Given the description of an element on the screen output the (x, y) to click on. 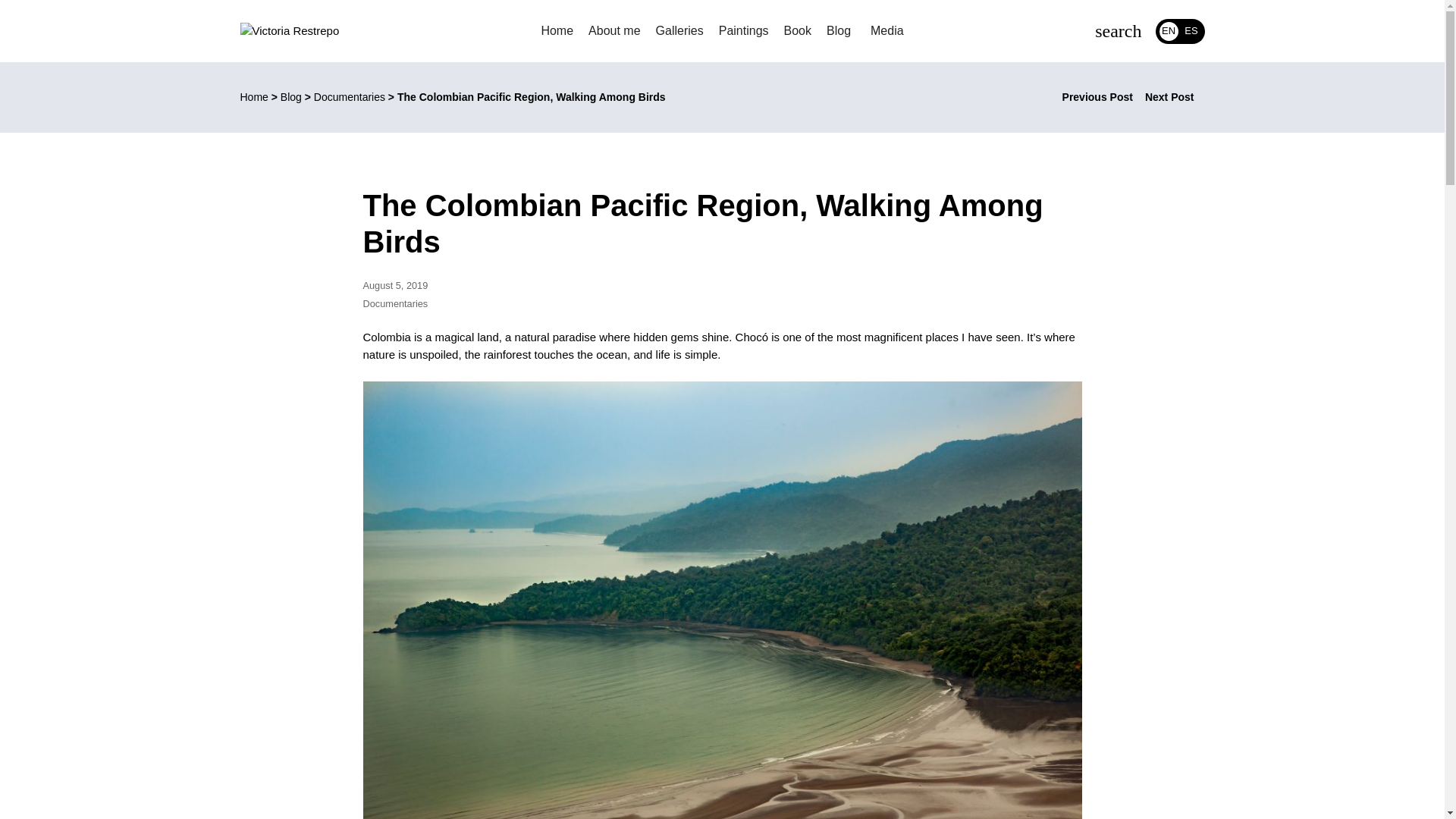
Documentaries (349, 96)
Blog (841, 30)
About me (614, 30)
Previous Post (1091, 97)
EN (1167, 30)
Galleries (679, 30)
Go to Blog. (291, 96)
Media (887, 30)
Go to the Documentaries Category archives. (349, 96)
Documentaries (395, 303)
Home (253, 96)
Home (556, 30)
Go to Victoria Restrepo. (253, 96)
Next Post (1174, 97)
Paintings (743, 30)
